Given the description of an element on the screen output the (x, y) to click on. 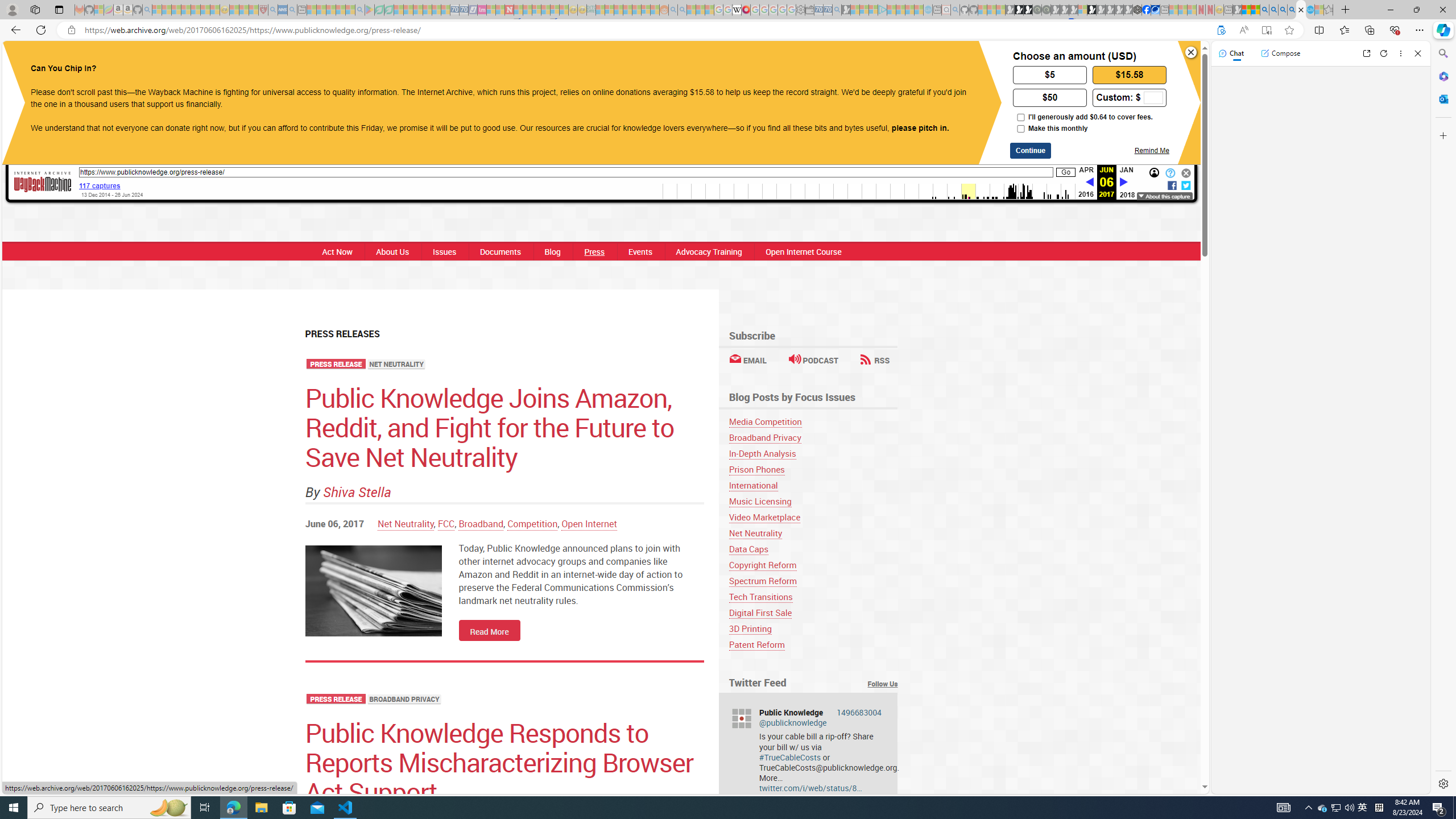
Press (593, 251)
Video Marketplace (813, 517)
117 captures (99, 185)
Advocacy Training (707, 251)
EMAIL (747, 360)
f (1171, 184)
Close banner (1190, 52)
